Given the description of an element on the screen output the (x, y) to click on. 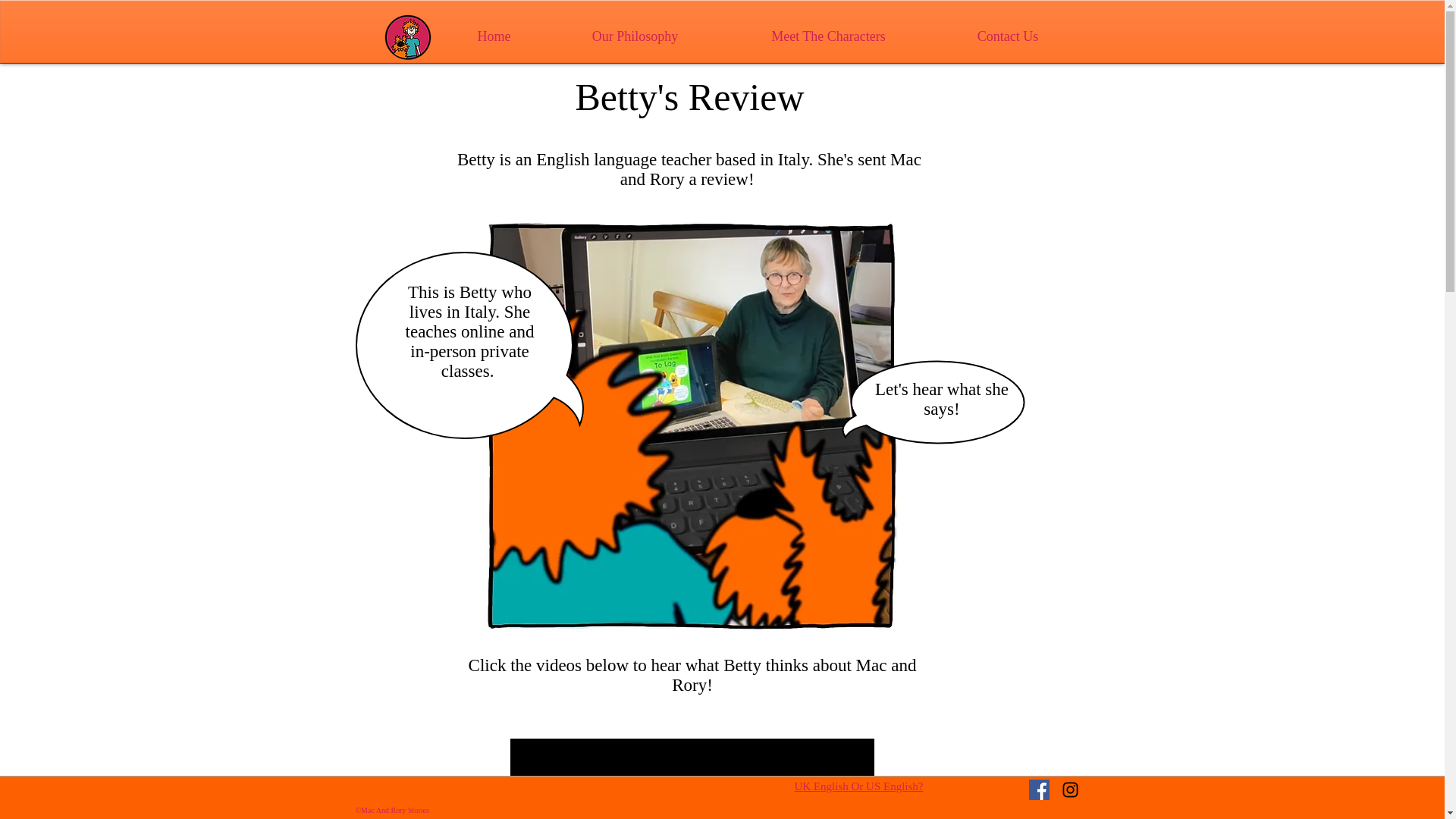
UK English Or US English? (858, 785)
Contact Us (1008, 36)
Our Philosophy (635, 36)
Meet The Characters (829, 36)
Home (493, 36)
